Given the description of an element on the screen output the (x, y) to click on. 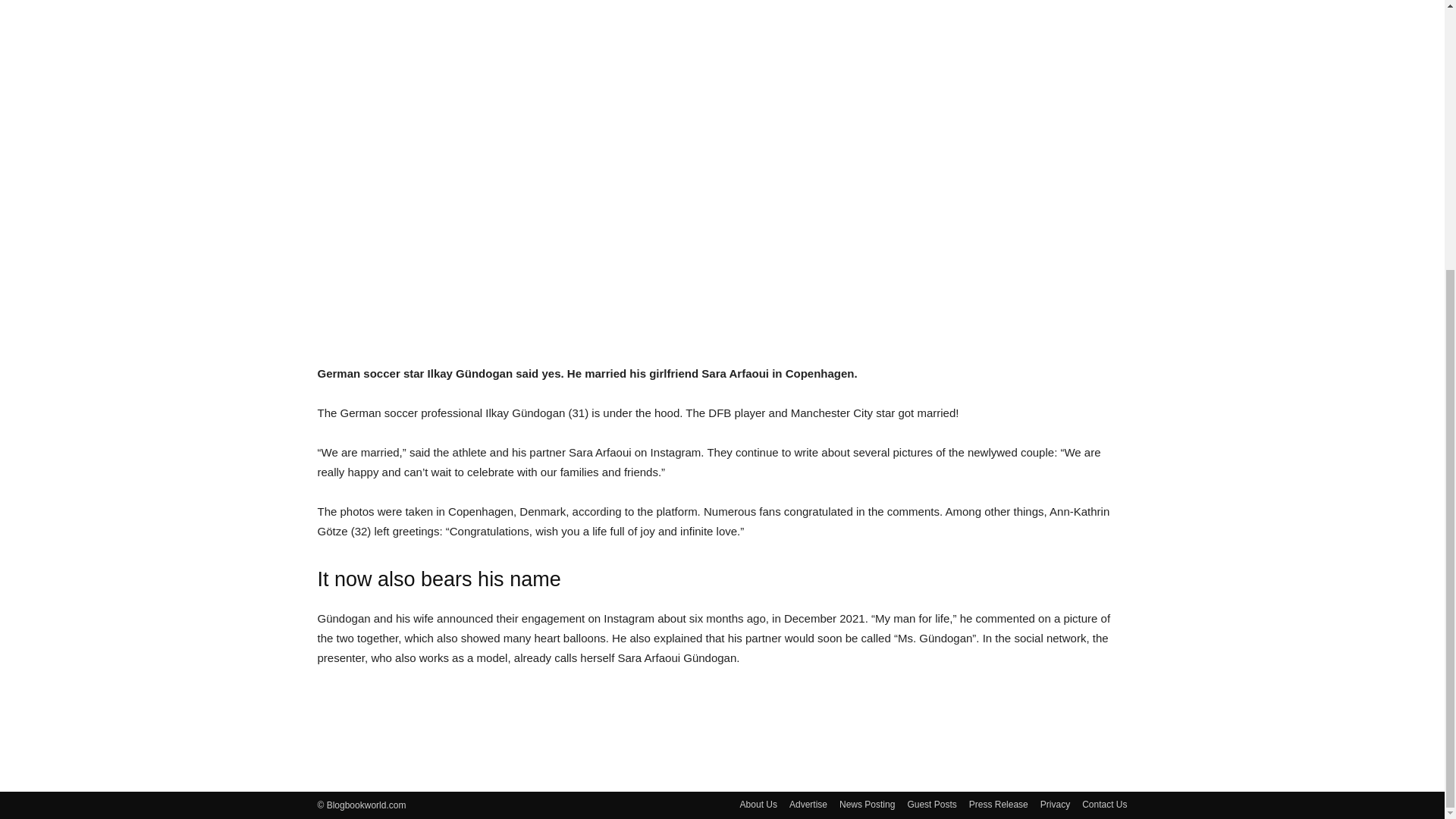
News Posting (867, 804)
Press Release (998, 804)
Contact Us (1103, 804)
Advertise (808, 804)
About Us (758, 804)
Guest Posts (931, 804)
Privacy (1055, 804)
Advertisement (721, 710)
